Given the description of an element on the screen output the (x, y) to click on. 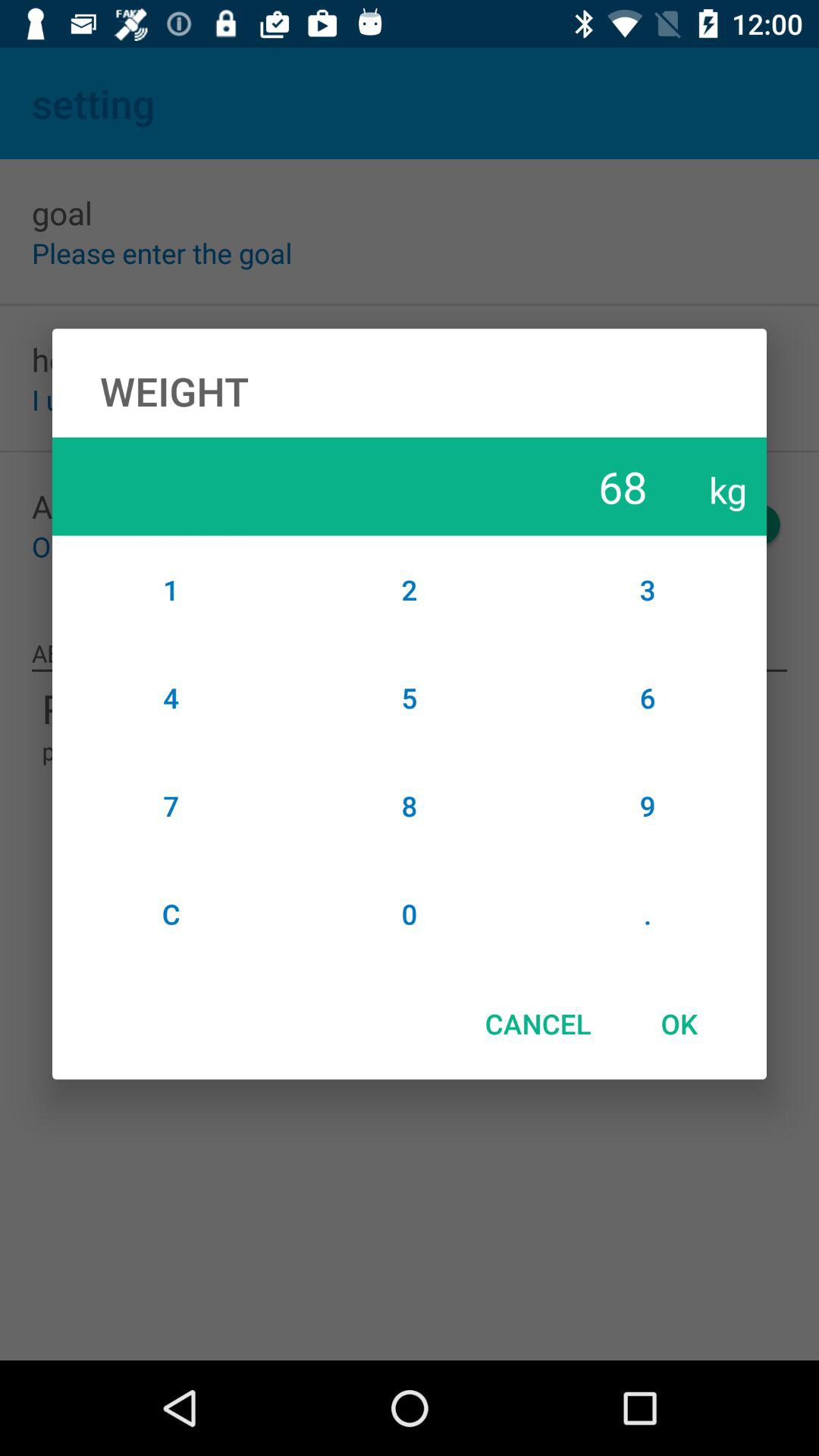
launch 2 (409, 589)
